Given the description of an element on the screen output the (x, y) to click on. 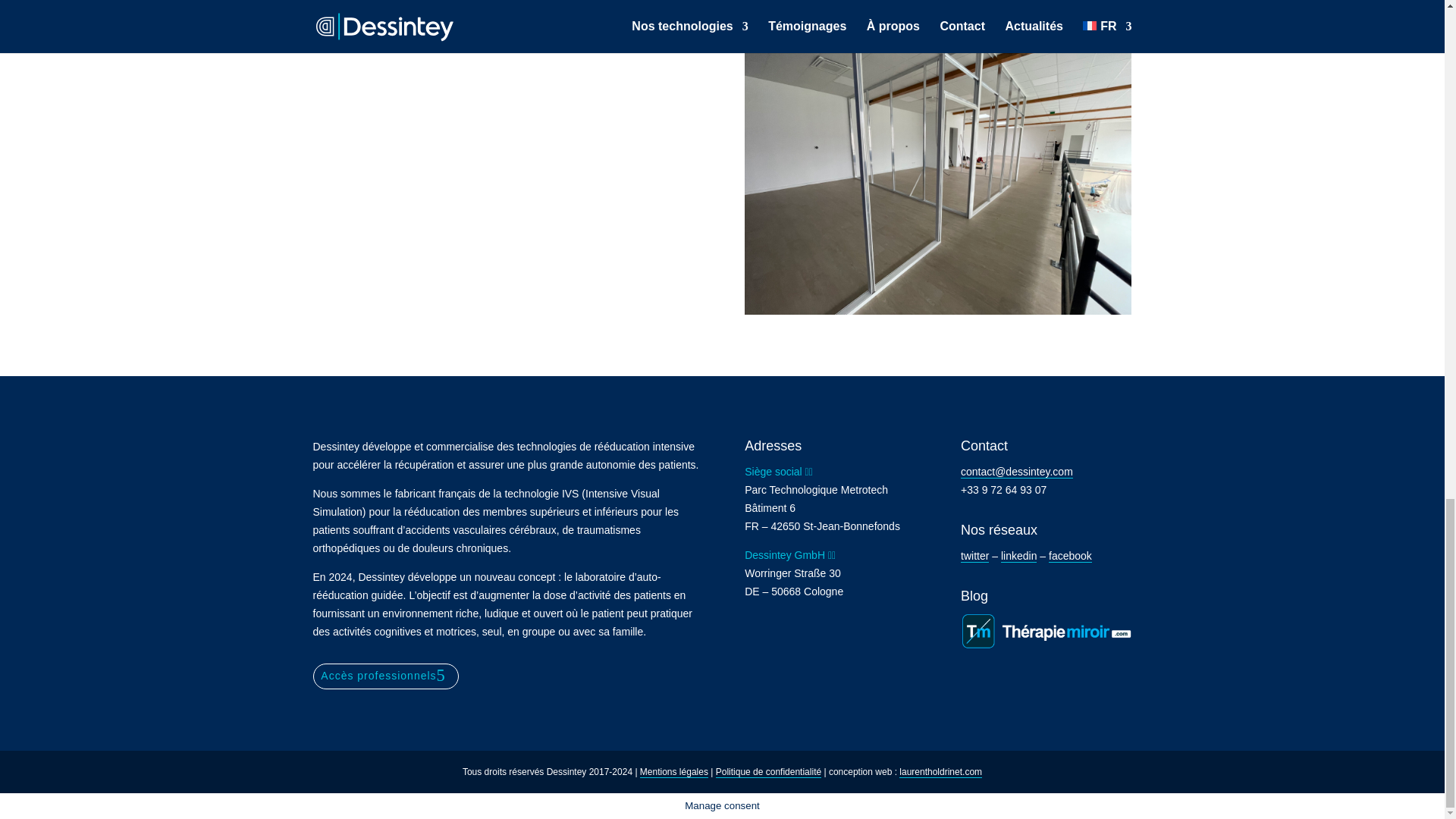
linkedin (1018, 555)
laurentholdrinet.com (940, 772)
works at Dessintey company 2024 (937, 169)
twitter (974, 555)
facebook (1070, 555)
